Given the description of an element on the screen output the (x, y) to click on. 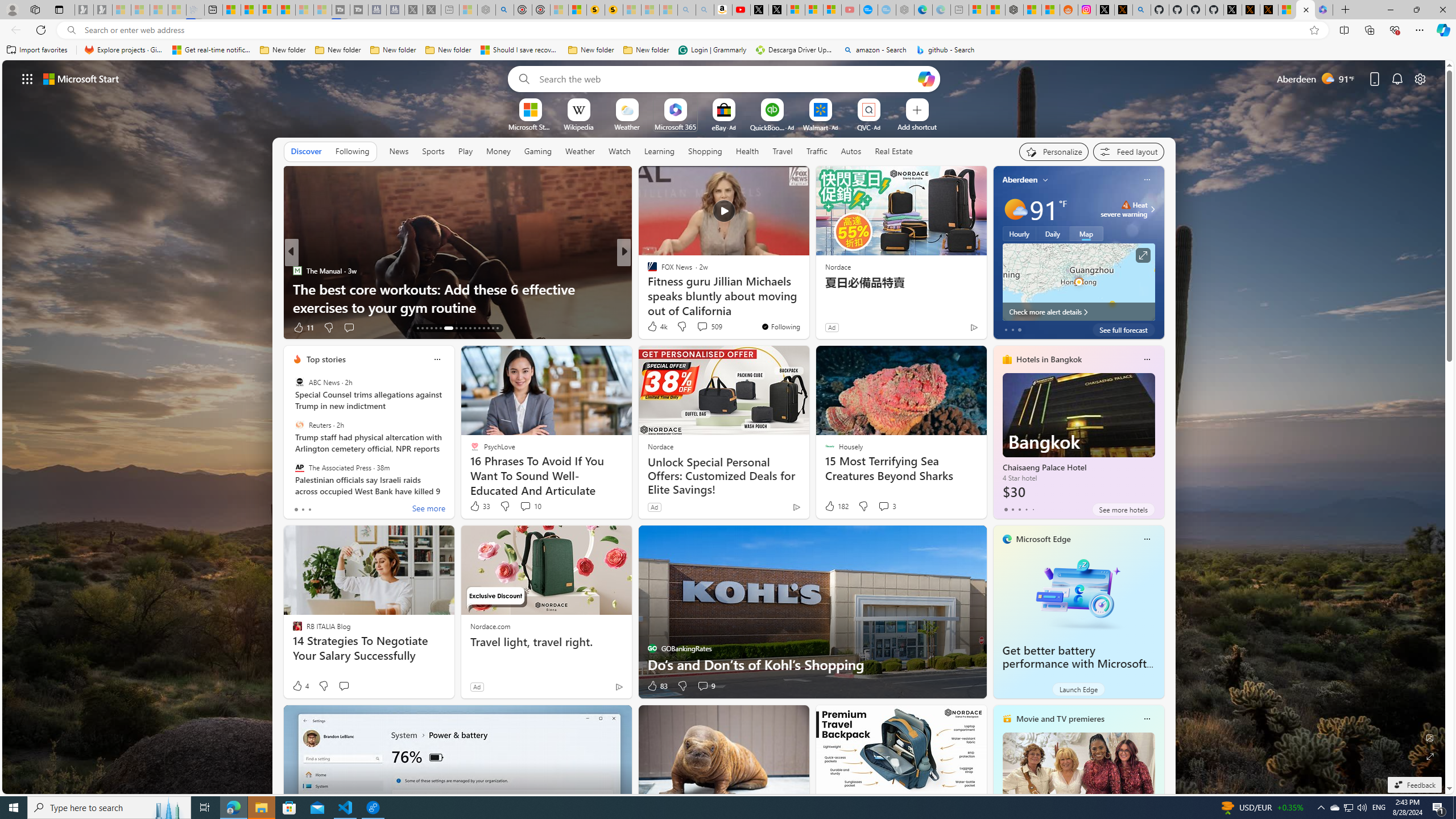
Mostly sunny (1014, 208)
15 Habits That Make You Seem Rude (807, 307)
App launcher (27, 78)
Gloom - YouTube - Sleeping (850, 9)
Streaming Coverage | T3 - Sleeping (341, 9)
36 Like (652, 327)
Play (465, 151)
Traffic (816, 151)
Shopping (705, 151)
AutomationID: tab-20 (452, 328)
